Given the description of an element on the screen output the (x, y) to click on. 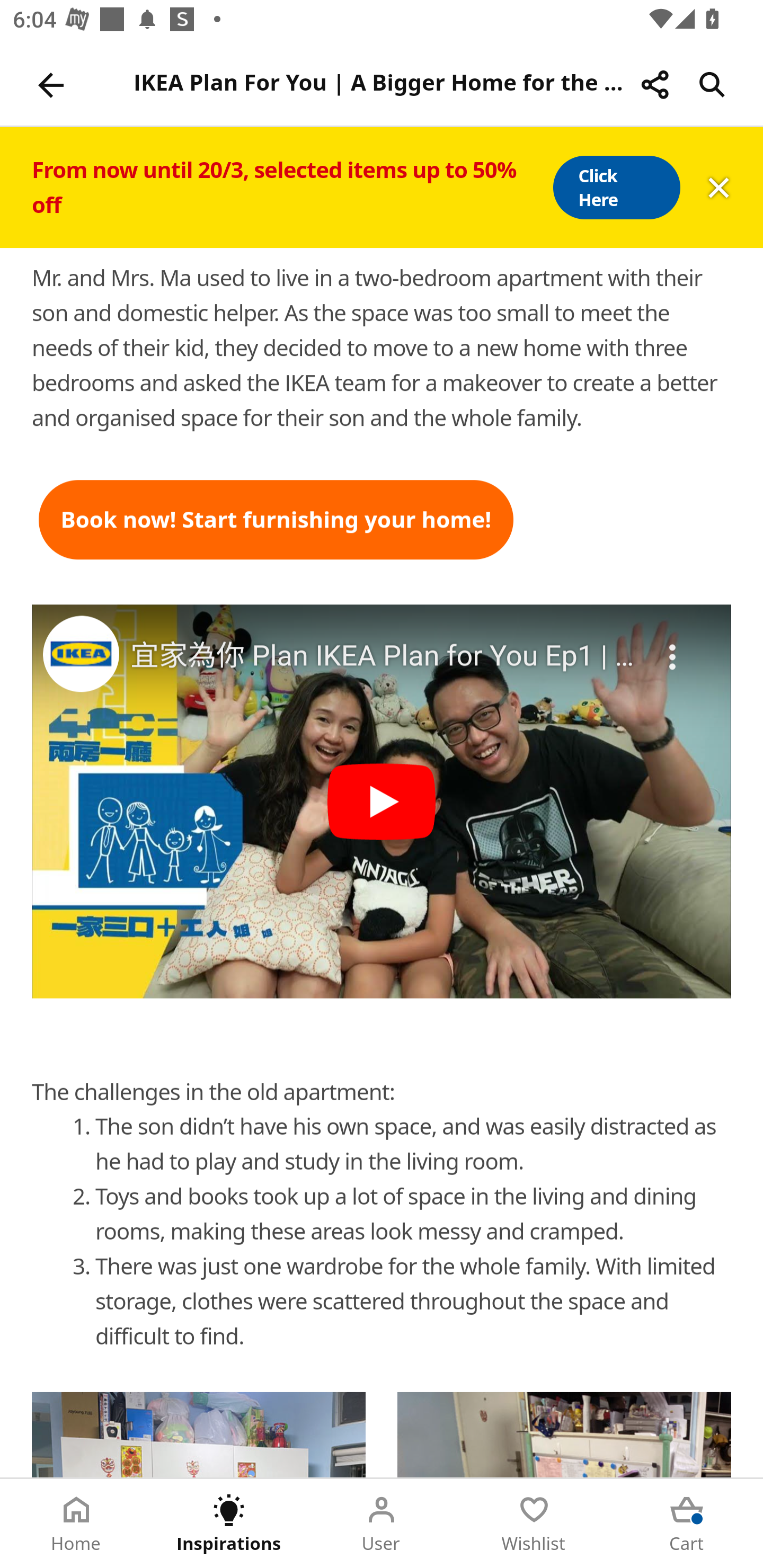
Home
Tab 1 of 5 (76, 1522)
Inspirations
Tab 2 of 5 (228, 1522)
User
Tab 3 of 5 (381, 1522)
Wishlist
Tab 4 of 5 (533, 1522)
Cart
Tab 5 of 5 (686, 1522)
